Given the description of an element on the screen output the (x, y) to click on. 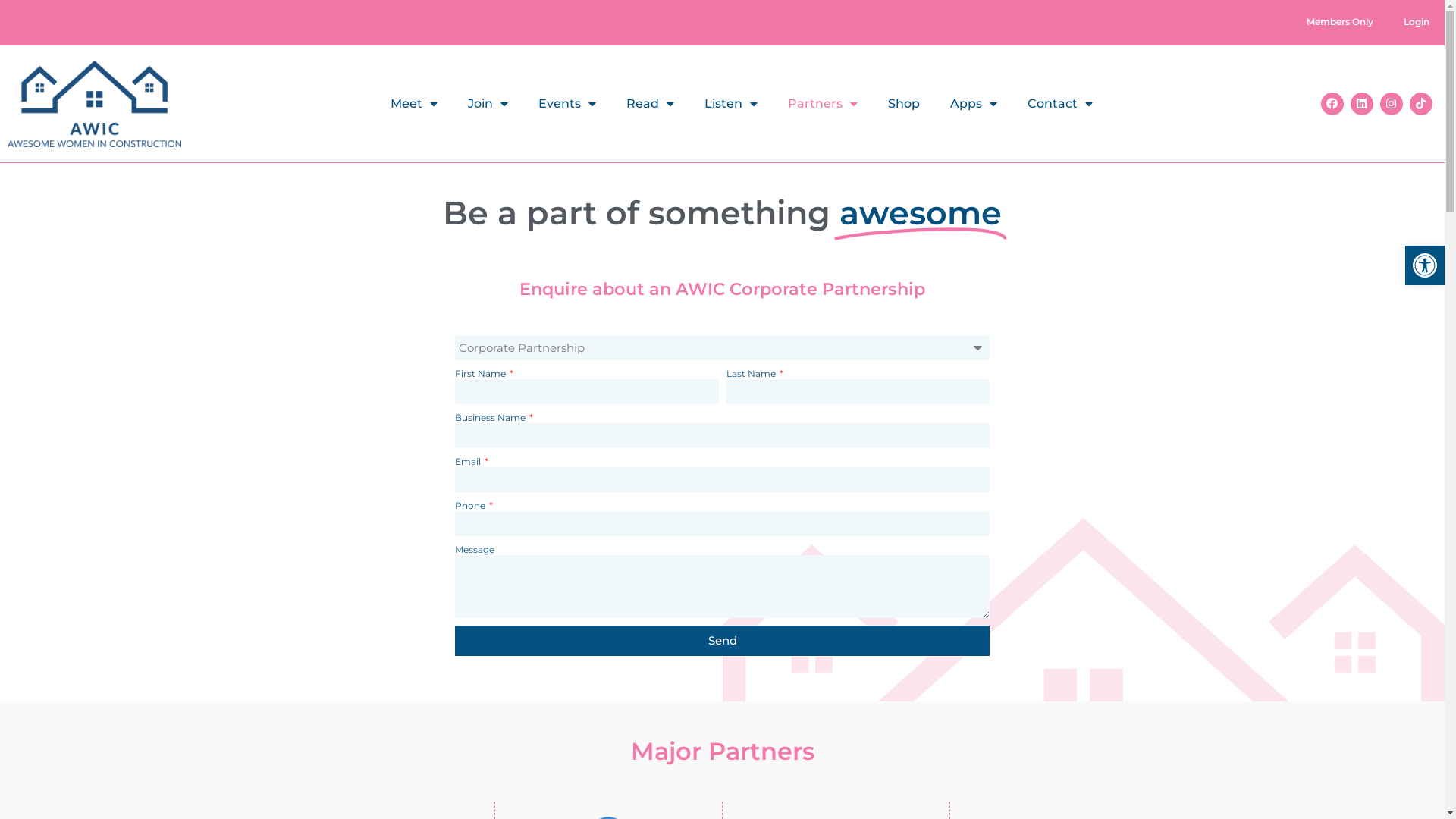
Members Only Element type: text (1339, 21)
Shop Element type: text (903, 103)
Meet Element type: text (413, 103)
Read Element type: text (650, 103)
Listen Element type: text (730, 103)
Login Element type: text (1416, 21)
Partners Element type: text (822, 103)
Open toolbar
Accessibility Tools Element type: text (1424, 265)
Contact Element type: text (1059, 103)
Events Element type: text (567, 103)
Apps Element type: text (973, 103)
Send Element type: text (722, 640)
Join Element type: text (487, 103)
